Given the description of an element on the screen output the (x, y) to click on. 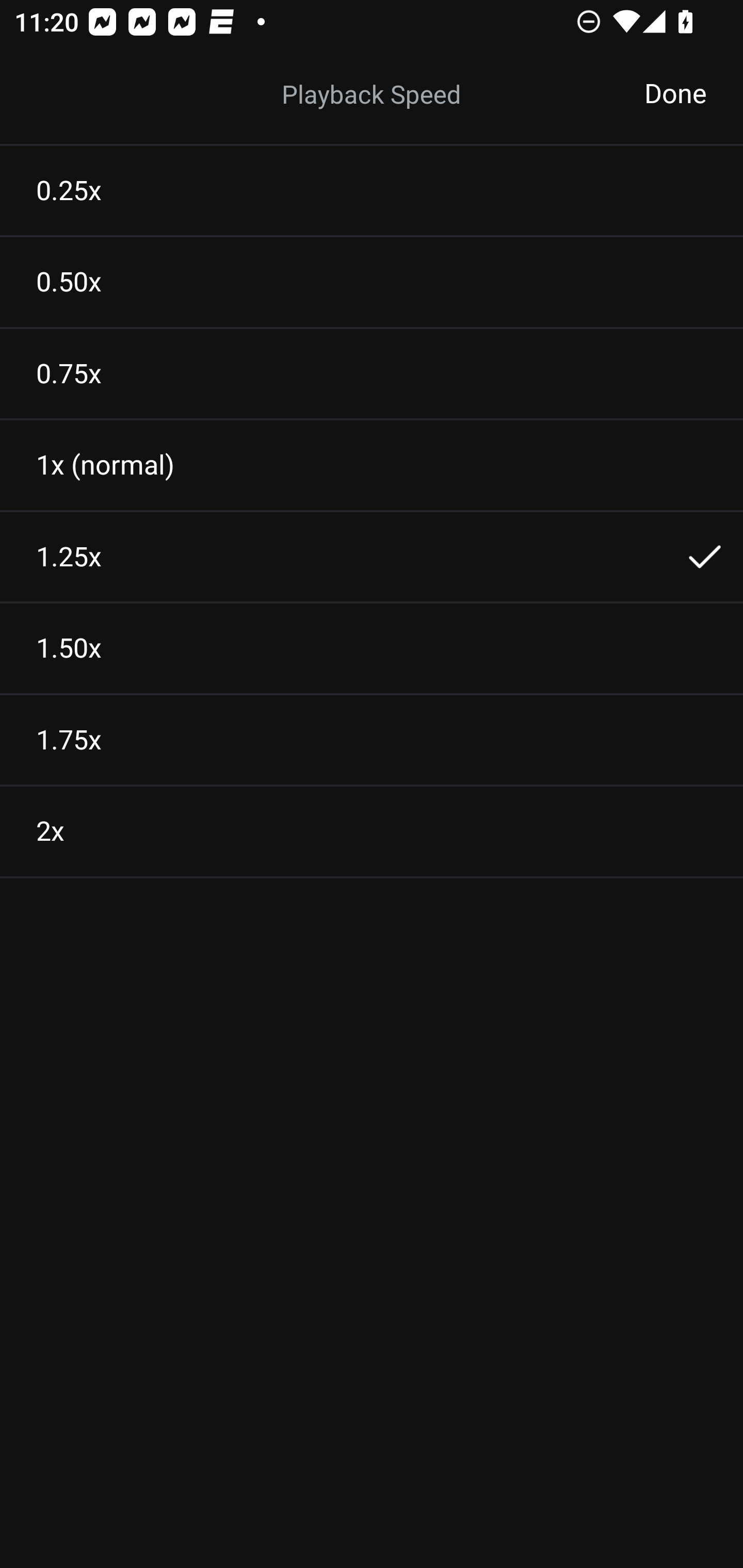
Listening (371, 93)
Done (675, 93)
0.25x (371, 190)
0.50x (371, 281)
0.75x (371, 373)
1x (normal) (371, 464)
1.25x (371, 557)
1.50x (371, 648)
1.75x (371, 739)
2x (371, 831)
